Given the description of an element on the screen output the (x, y) to click on. 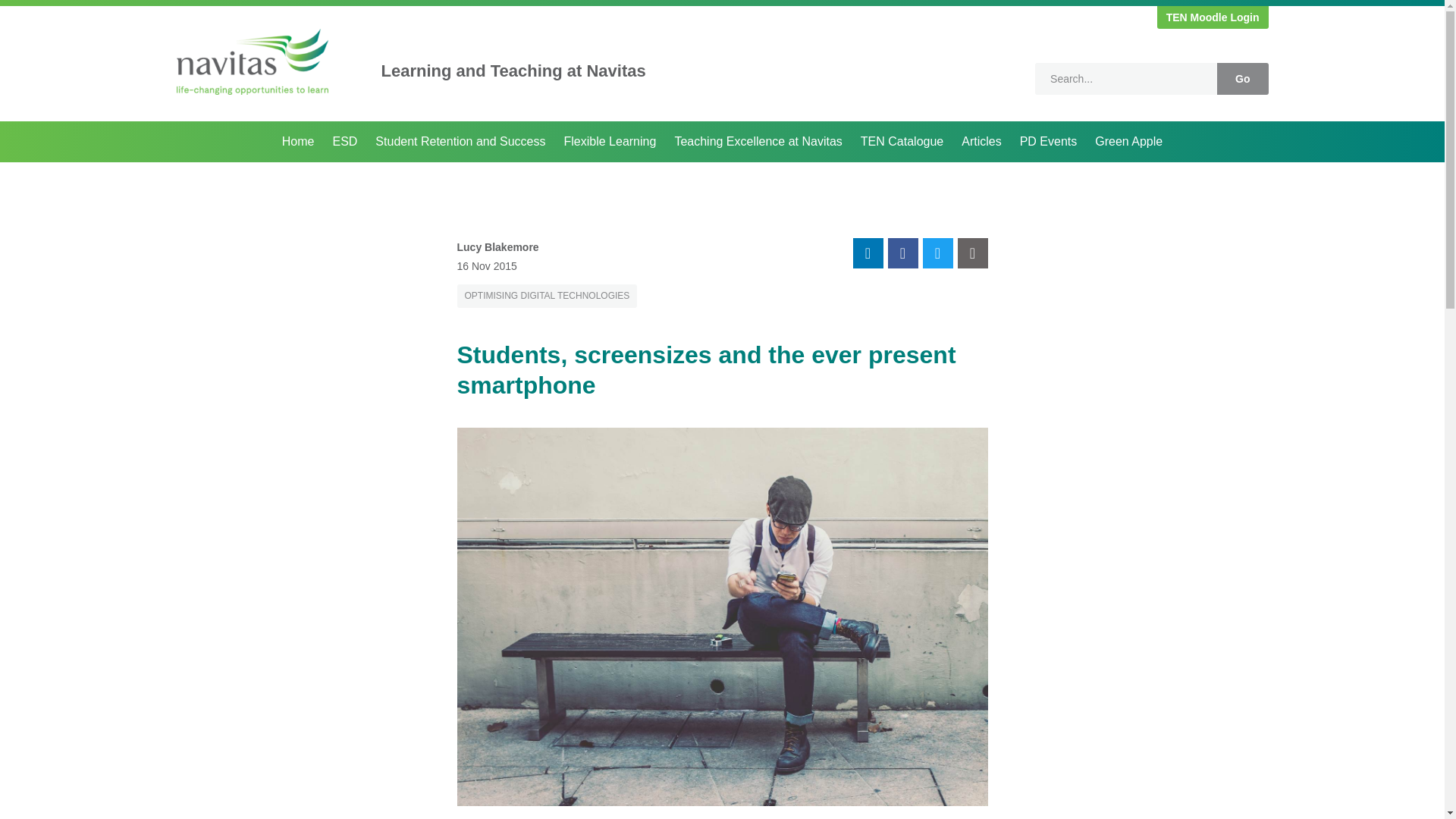
Click Here (1212, 16)
logo-new (251, 61)
Go (1242, 79)
Student Retention and Success (460, 141)
TEN Moodle Login (1212, 16)
Teaching Excellence at Navitas (757, 141)
Home (298, 141)
TEN Catalogue (901, 141)
ESD (344, 141)
Flexible Learning (609, 141)
